Given the description of an element on the screen output the (x, y) to click on. 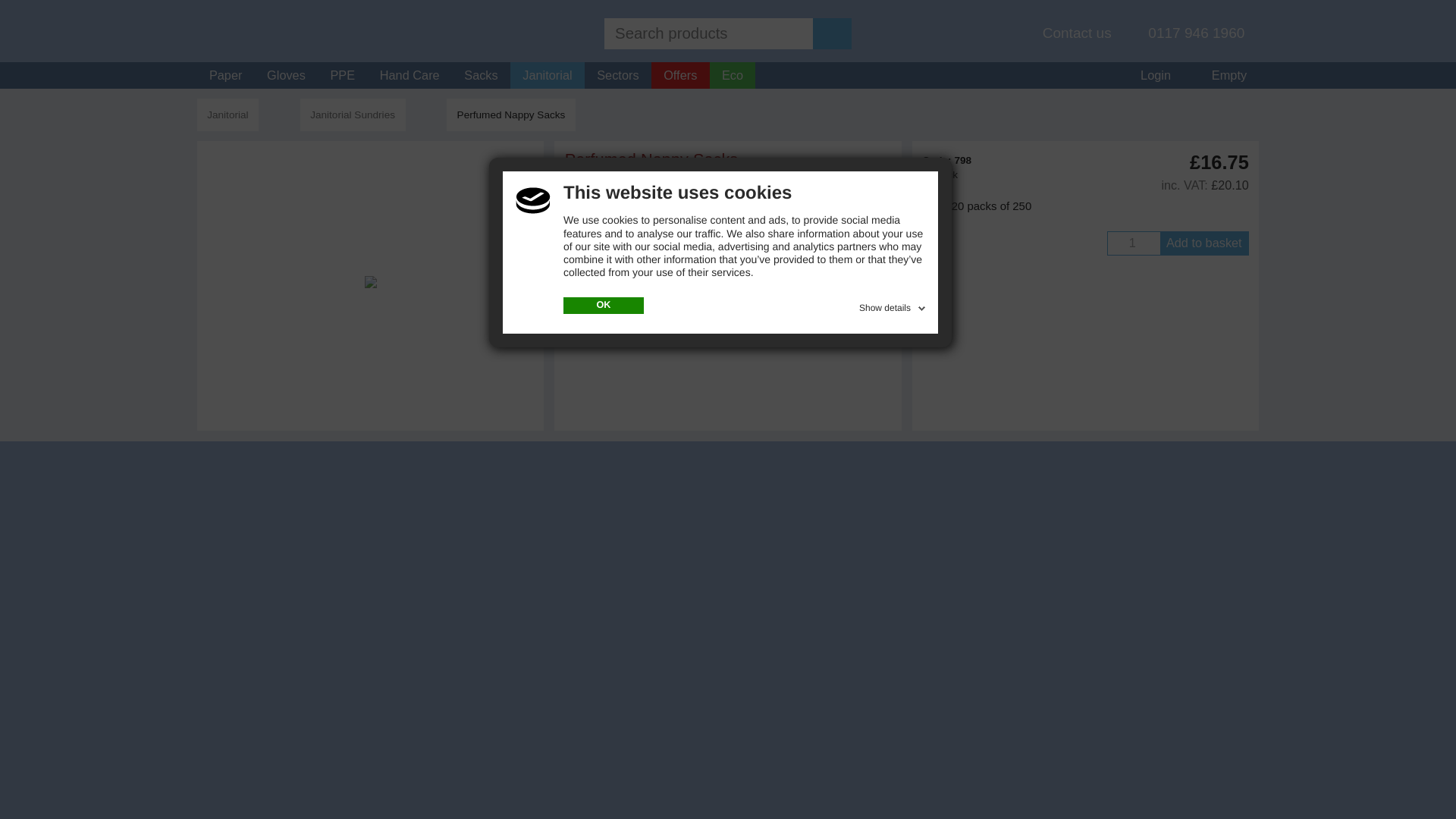
OK (603, 305)
1 (1132, 242)
Show details (893, 305)
